Given the description of an element on the screen output the (x, y) to click on. 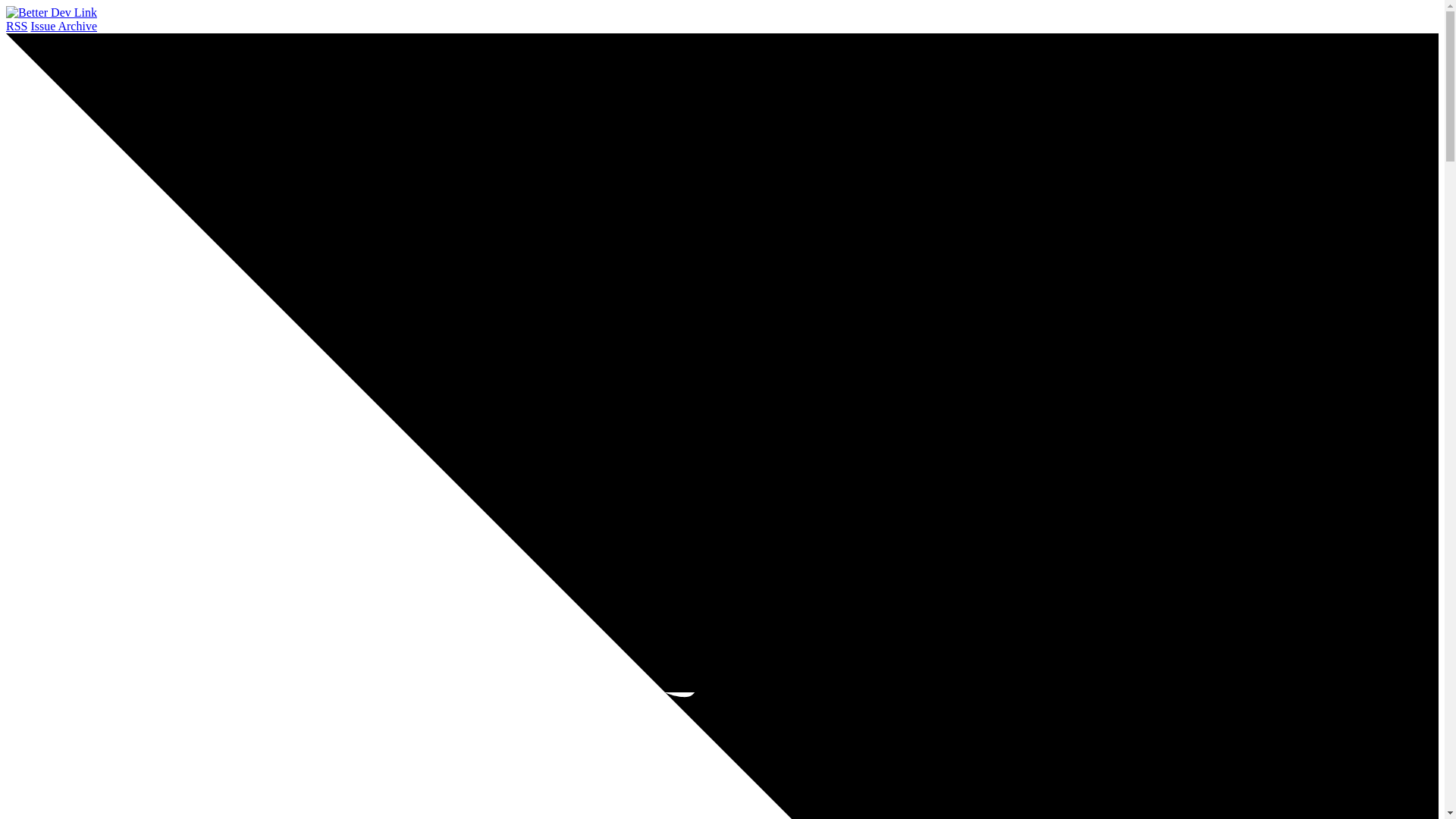
Issue Archive (63, 25)
RSS (16, 25)
